Given the description of an element on the screen output the (x, y) to click on. 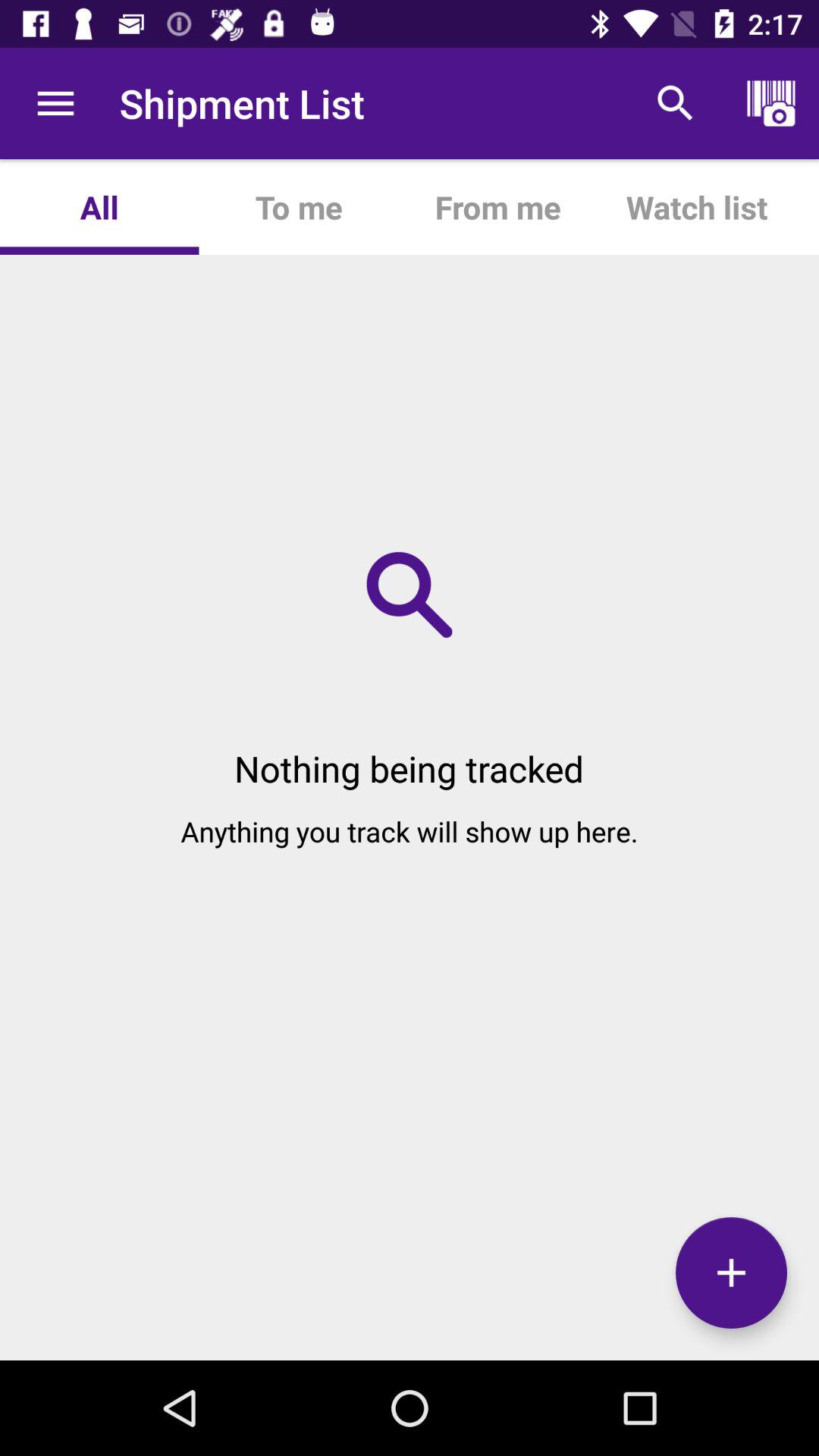
turn on app to the left of shipment list icon (55, 103)
